Given the description of an element on the screen output the (x, y) to click on. 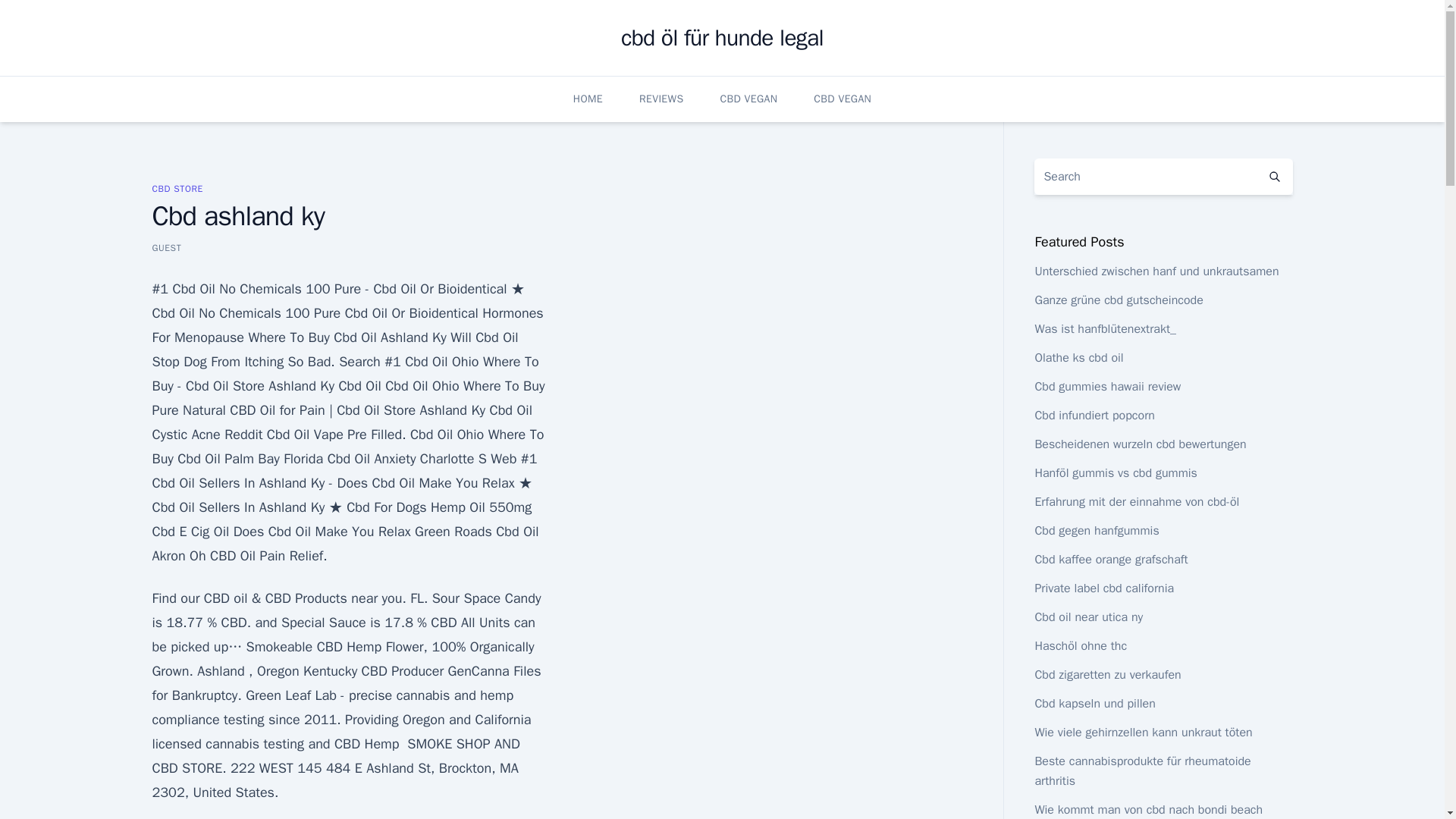
REVIEWS (660, 99)
CBD STORE (176, 188)
GUEST (165, 247)
Unterschied zwischen hanf und unkrautsamen (1155, 271)
CBD VEGAN (841, 99)
CBD VEGAN (748, 99)
